Given the description of an element on the screen output the (x, y) to click on. 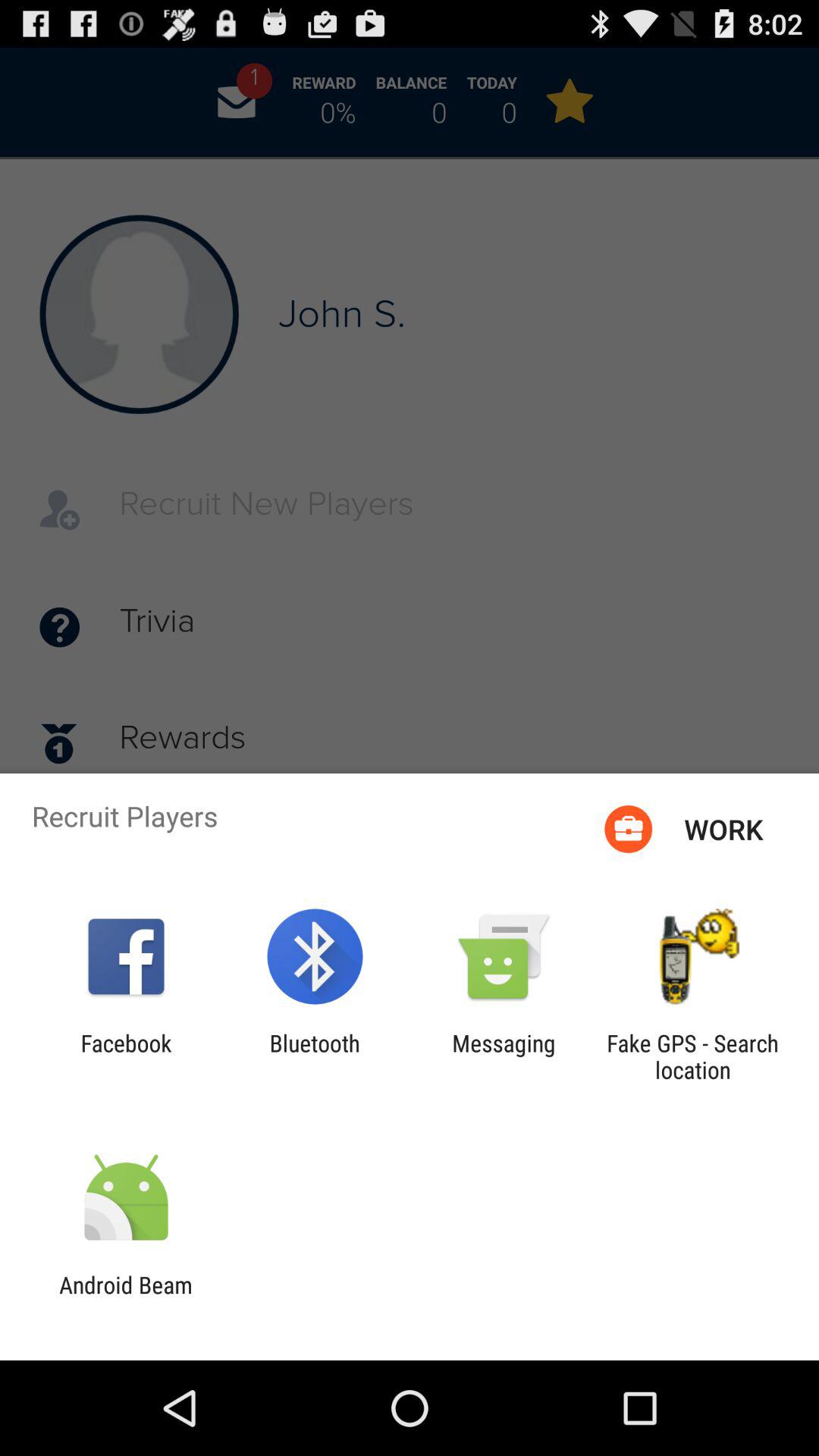
scroll until android beam app (125, 1298)
